Given the description of an element on the screen output the (x, y) to click on. 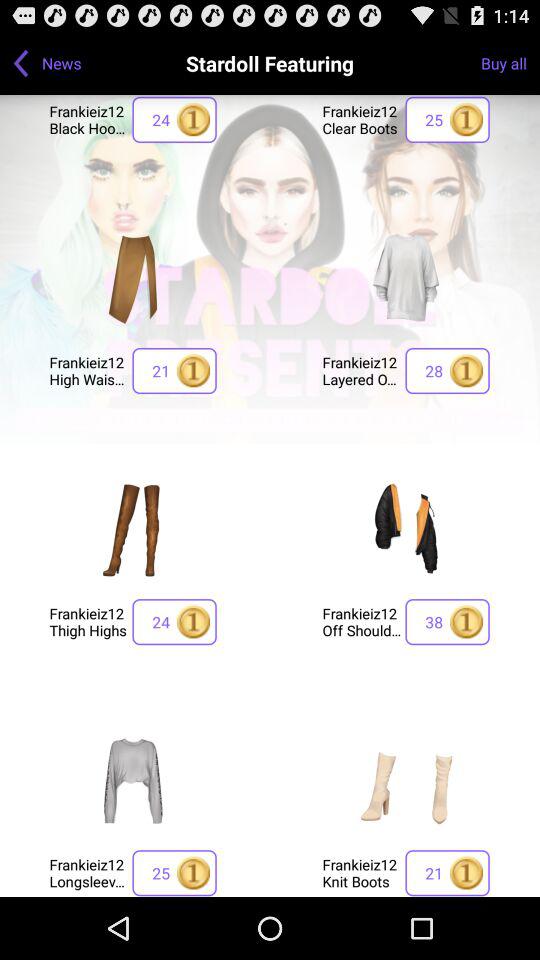
brown split leg skirt (133, 277)
